Given the description of an element on the screen output the (x, y) to click on. 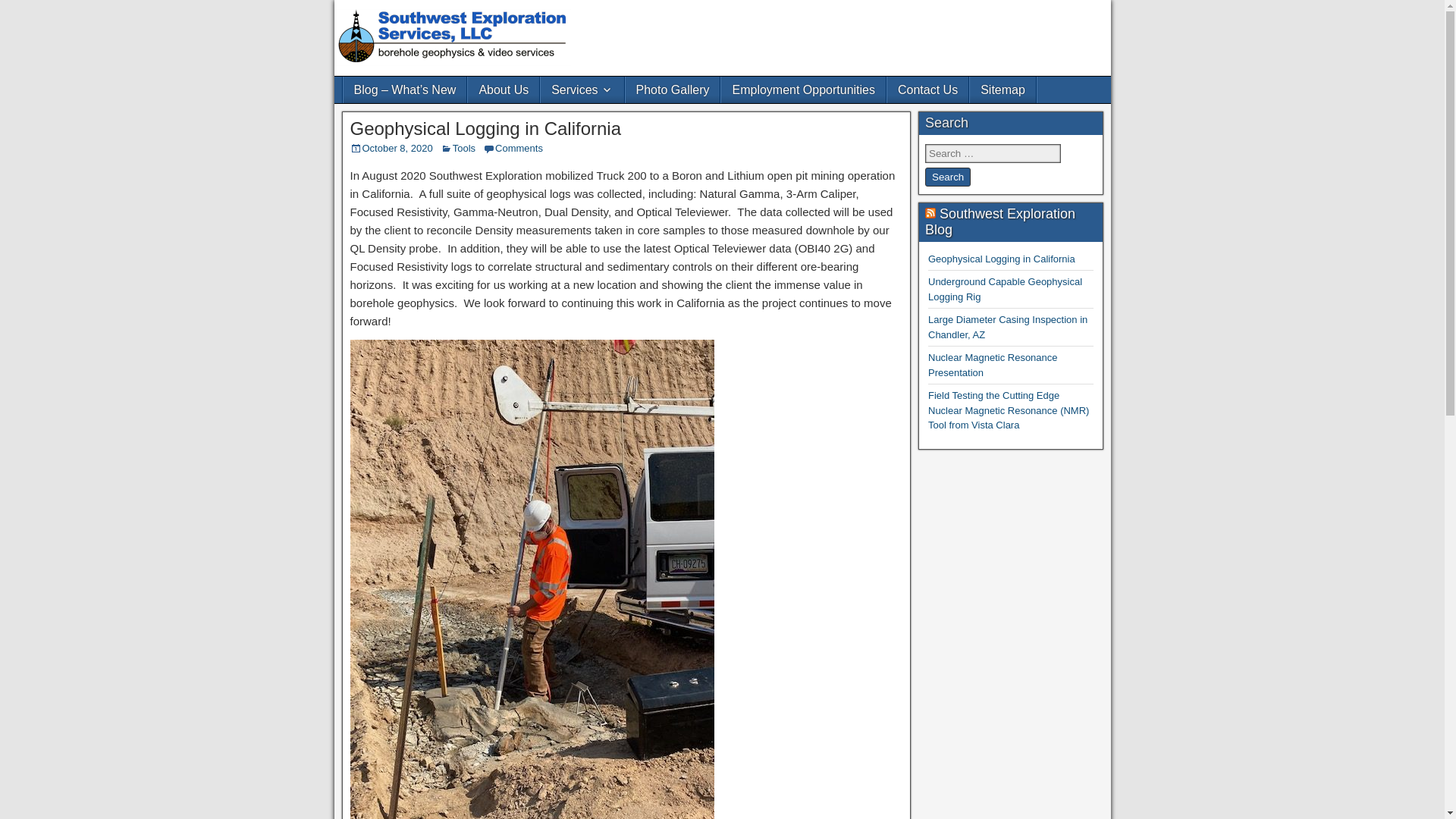
Sitemap (1002, 89)
Search (947, 176)
Large Diameter Casing Inspection in Chandler, AZ (1007, 326)
About Us (502, 89)
Nuclear Magnetic Resonance Presentation (993, 365)
Geophysical Logging in California (485, 127)
Search (947, 176)
Employment Opportunities (802, 89)
Services (581, 89)
Search (947, 176)
October 8, 2020 (397, 147)
Underground Capable Geophysical Logging Rig (1004, 289)
Tools (464, 147)
Contact Us (927, 89)
Comments (519, 147)
